Given the description of an element on the screen output the (x, y) to click on. 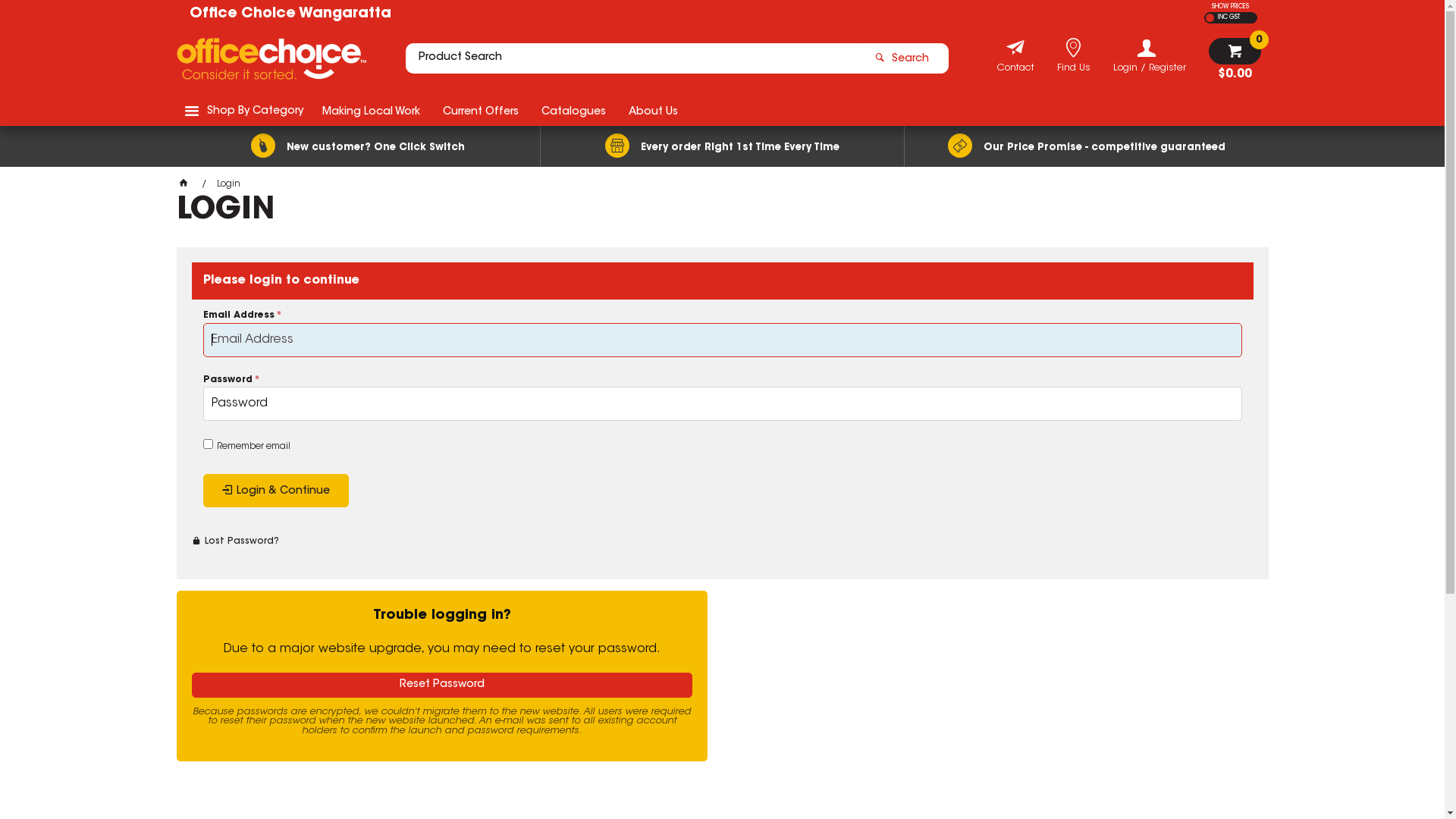
Our Price Promise - competitive guaranteed Element type: text (1085, 145)
Every order Right 1st Time Every Time Element type: text (721, 145)
Contact Element type: text (1014, 69)
Current Offers Element type: text (479, 110)
EX GST Element type: text (1209, 17)
Catalogues Element type: text (572, 110)
Search Element type: text (904, 58)
Login & Continue Element type: text (275, 490)
Making Local Work Element type: text (370, 110)
Login / Register Element type: text (1149, 55)
Lost Password? Element type: text (234, 541)
Reset Password Element type: text (441, 684)
About Us Element type: text (653, 110)
Find Us Element type: text (1073, 69)
$0.00
0 Element type: text (1234, 59)
New customer? One Click Switch Element type: text (357, 145)
INC GST Element type: text (1226, 17)
